Given the description of an element on the screen output the (x, y) to click on. 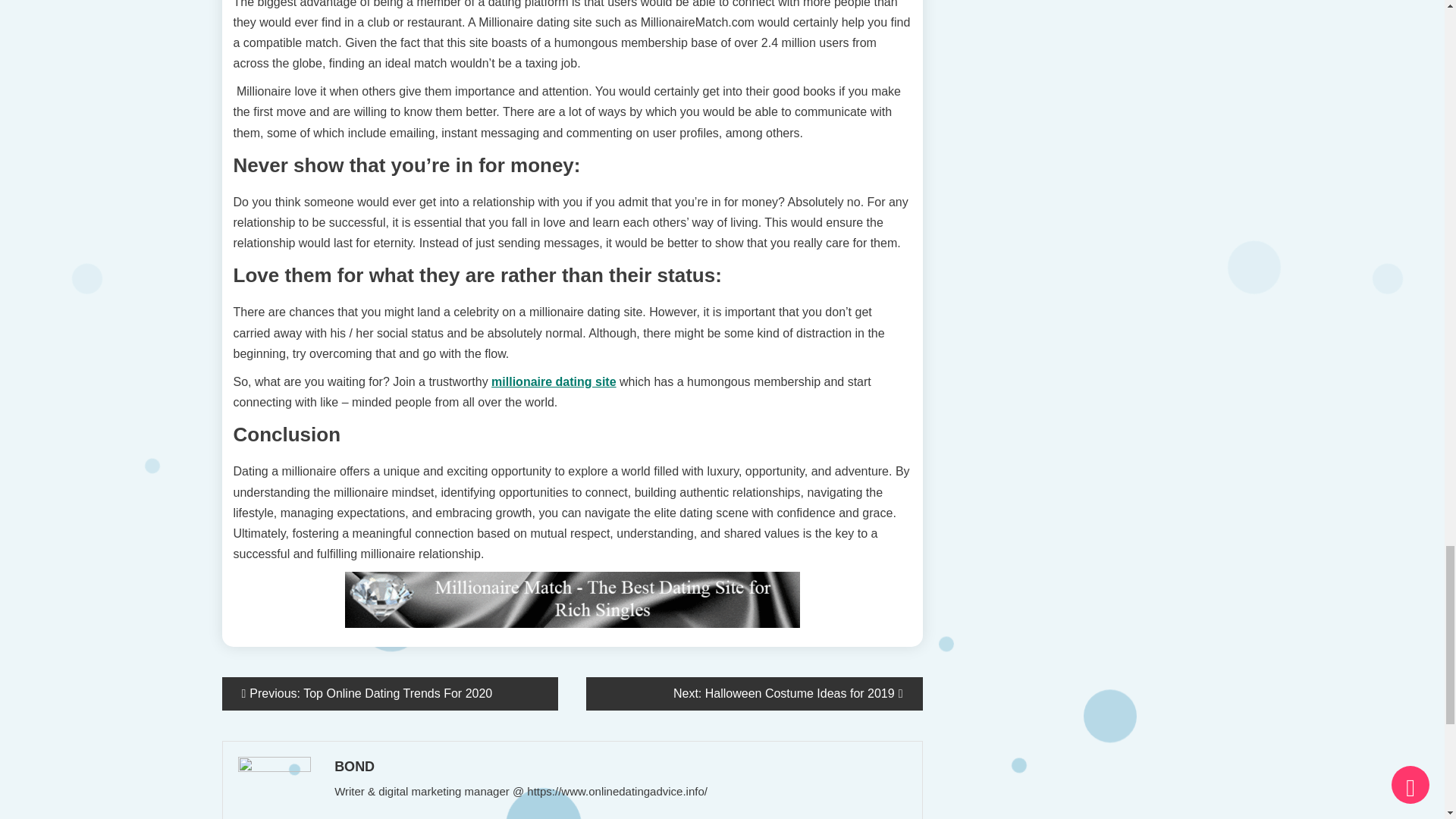
BOND (618, 766)
millionaire dating site (553, 381)
Posts by Bond (618, 766)
Previous: Top Online Dating Trends For 2020 (389, 693)
Next: Halloween Costume Ideas for 2019 (754, 693)
